Given the description of an element on the screen output the (x, y) to click on. 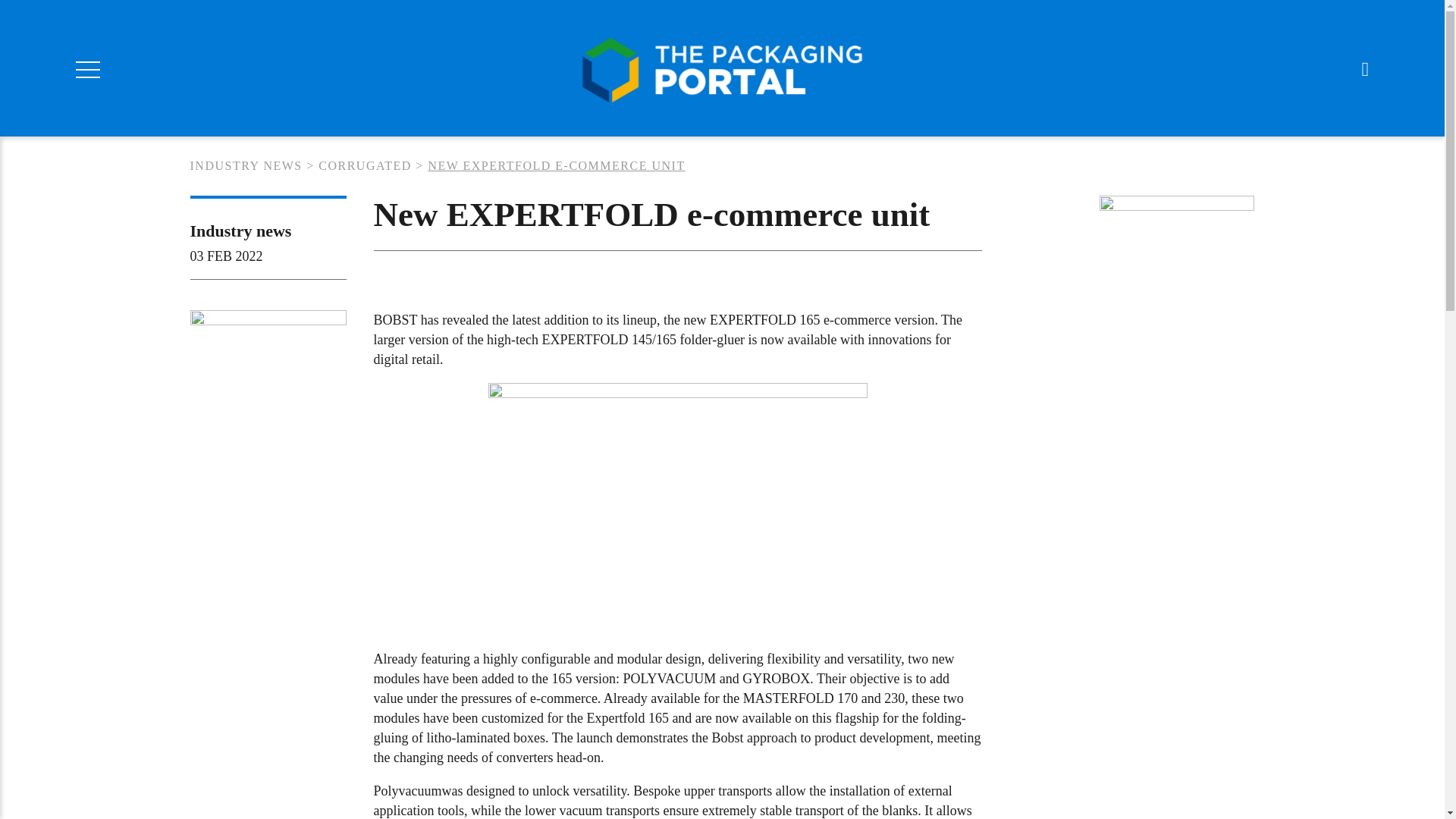
Go to the Corrugated Categories archives. (365, 164)
Go to Industry news. (245, 164)
INDUSTRY NEWS (245, 164)
CORRUGATED (365, 164)
